Given the description of an element on the screen output the (x, y) to click on. 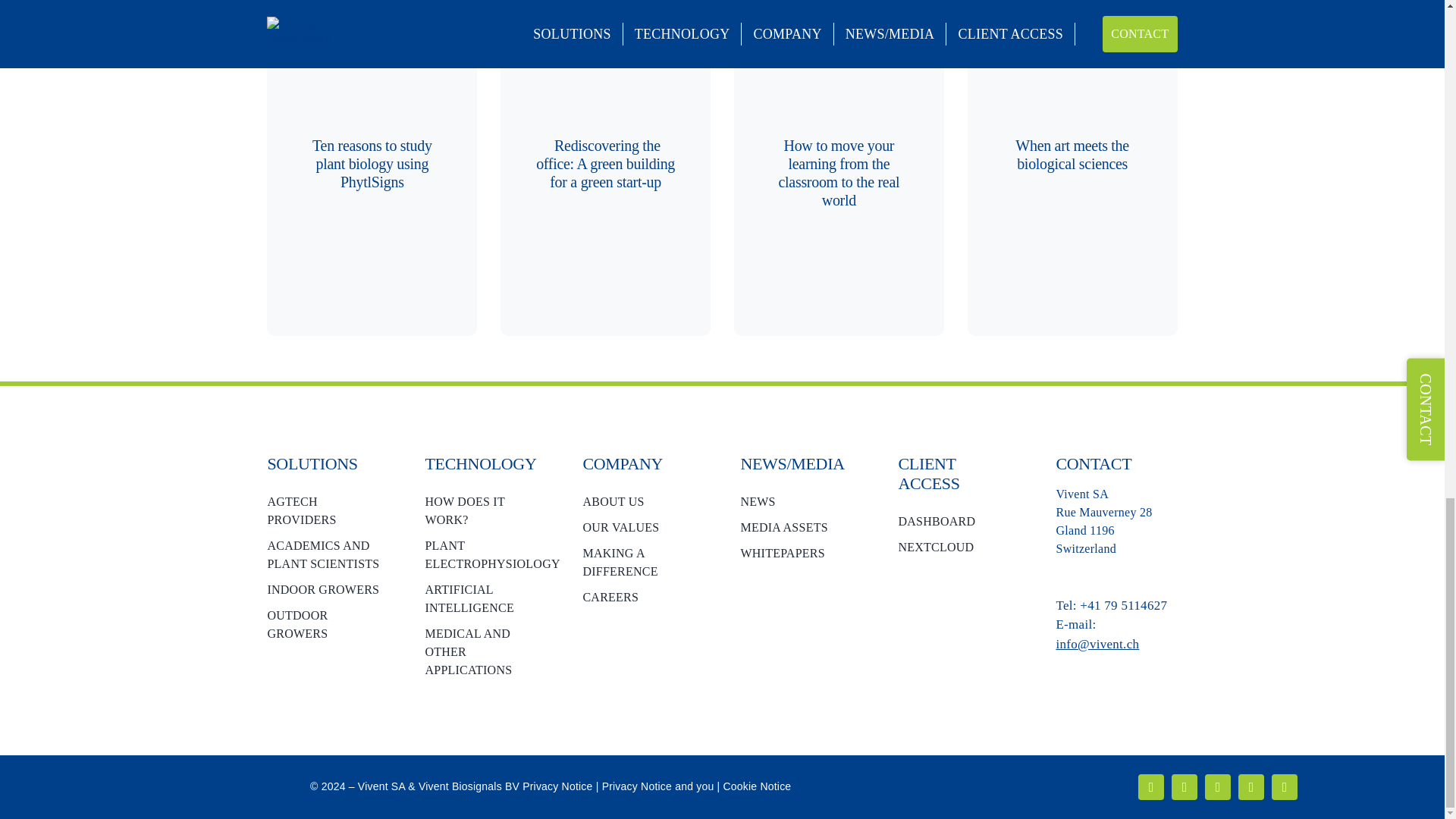
Facebook (1184, 786)
LinkedIn (1150, 786)
X (1217, 786)
YouTube (1284, 786)
Instagram (1251, 786)
